Given the description of an element on the screen output the (x, y) to click on. 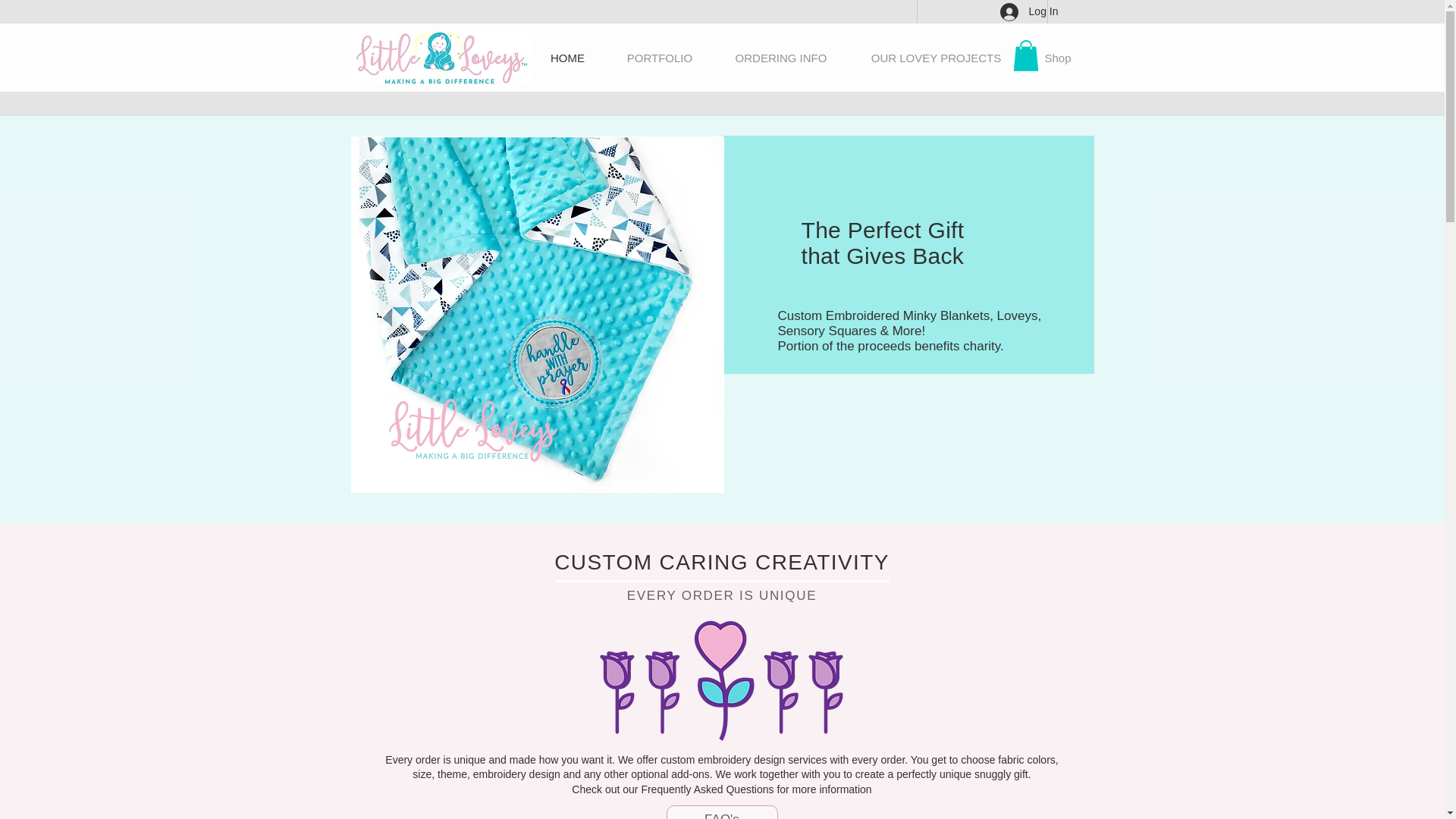
FAQ's (721, 812)
Shop (1056, 58)
HOME (567, 58)
Unique and Custom (721, 682)
Log In (1029, 12)
PORTFOLIO (659, 58)
